Given the description of an element on the screen output the (x, y) to click on. 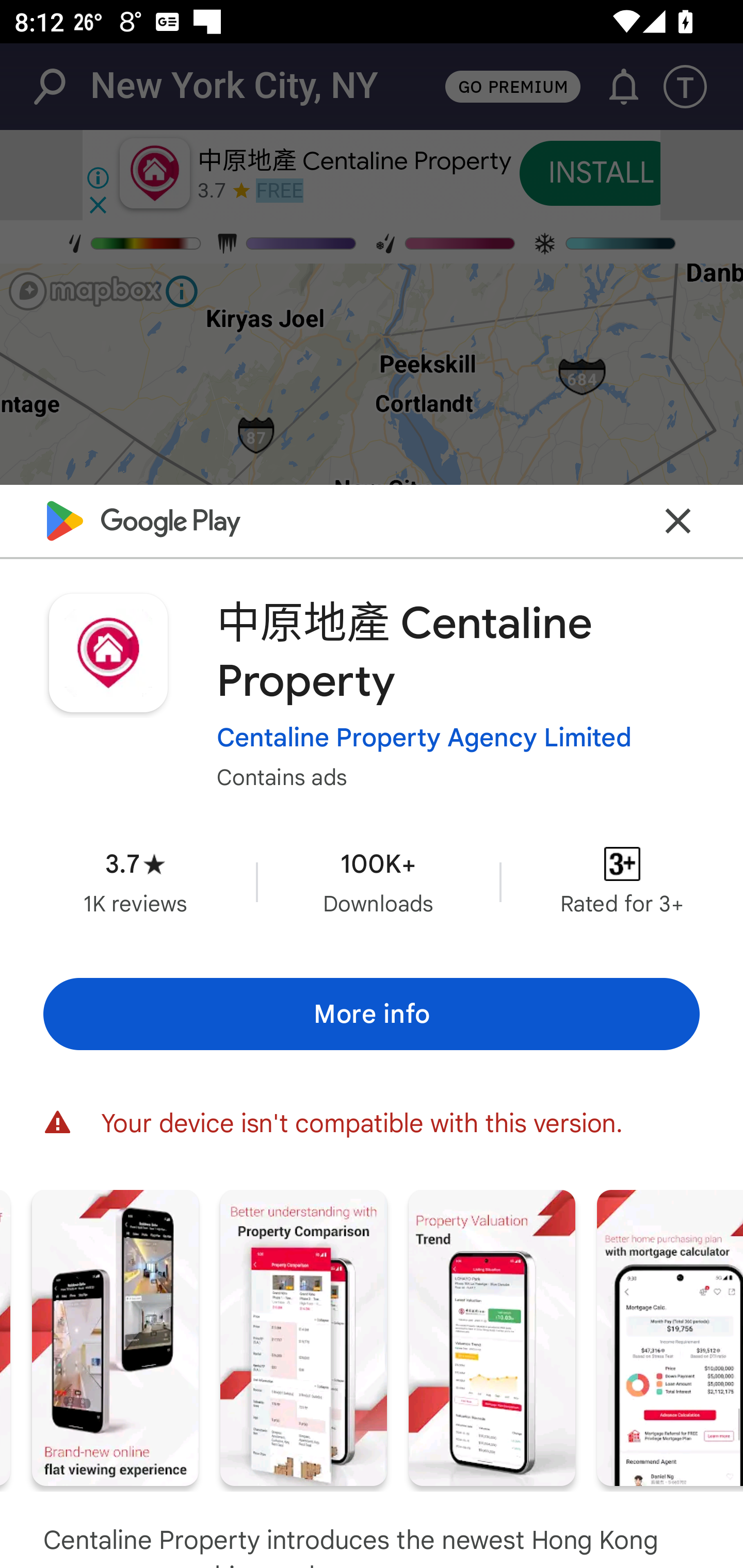
Close (677, 520)
Centaline Property Agency Limited (423, 737)
More info (371, 1014)
Screenshot "4" of "8" (114, 1338)
Screenshot "5" of "8" (303, 1338)
Screenshot "6" of "8" (491, 1338)
Screenshot "7" of "8" (669, 1338)
